Given the description of an element on the screen output the (x, y) to click on. 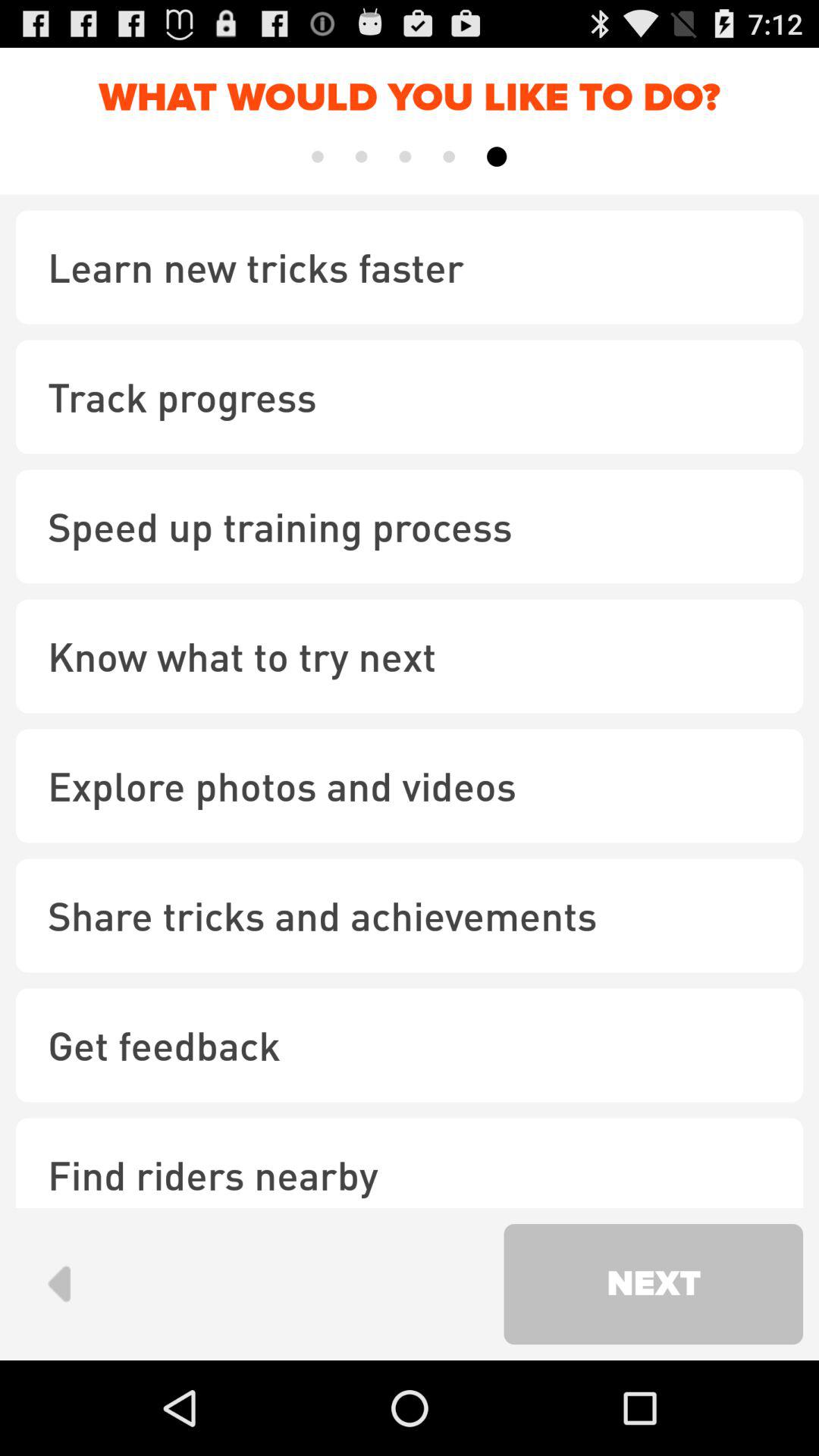
tap checkbox above the speed up training (409, 396)
